Given the description of an element on the screen output the (x, y) to click on. 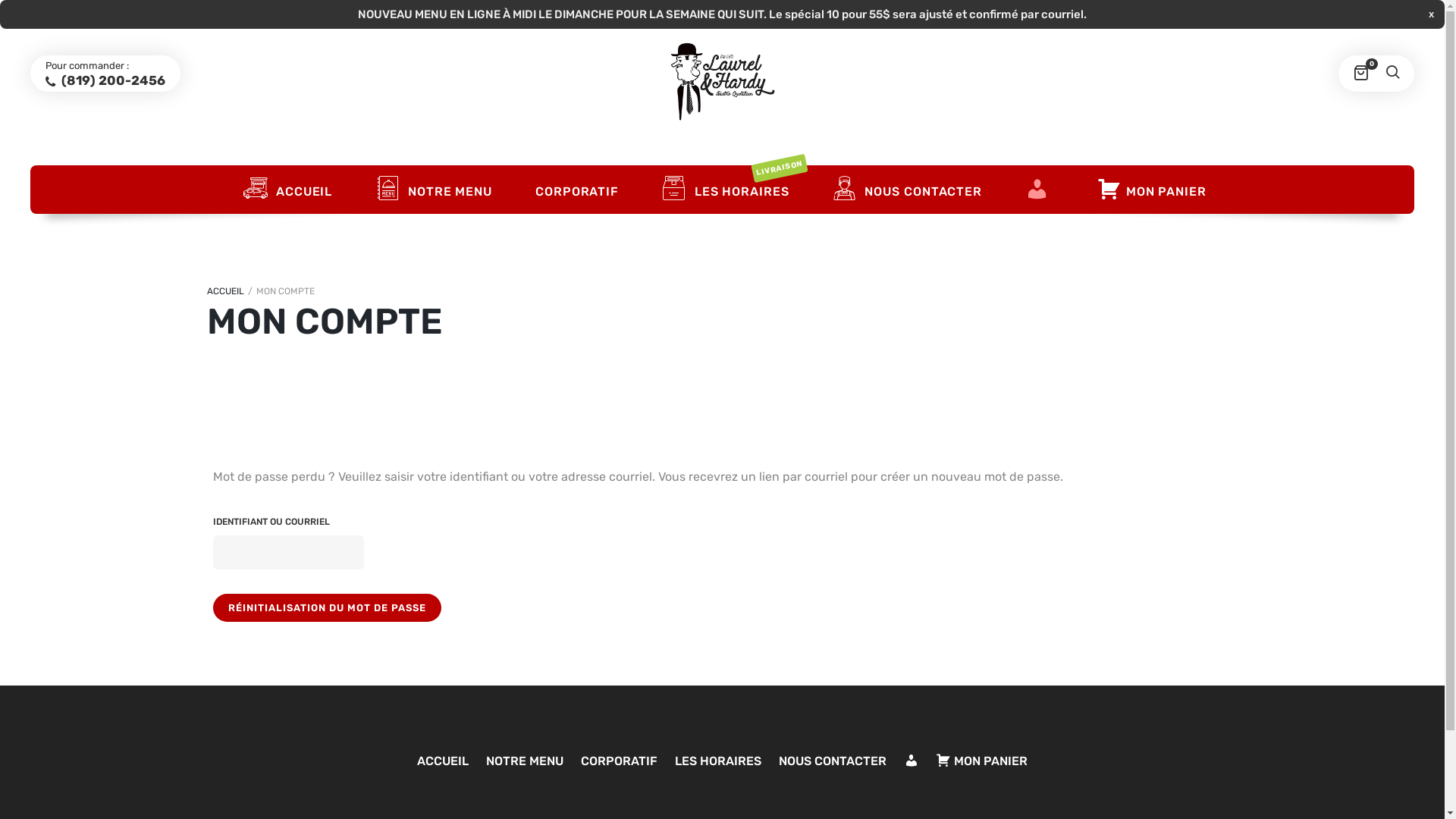
LES HORAIRES
LIVRAISON Element type: text (722, 189)
NOUS CONTACTER Element type: text (904, 189)
Search Products Element type: text (15, 13)
Search Element type: hover (1391, 73)
(819) 200-2456 Element type: text (105, 79)
MON PANIER Element type: text (1148, 191)
NOUS CONTACTER Element type: text (832, 760)
0 Element type: text (1360, 73)
ACCUEIL Element type: text (284, 189)
NOTRE MENU Element type: text (430, 189)
Ignorer Element type: text (1431, 13)
LES HORAIRES Element type: text (717, 760)
NOTRE MENU Element type: text (524, 760)
MON COMPTE Element type: text (910, 760)
CORPORATIF Element type: text (574, 191)
CORPORATIF Element type: text (619, 760)
ACCUEIL Element type: text (224, 290)
Bistro Laurel & Hardy Element type: hover (722, 81)
ACCUEIL Element type: text (442, 760)
MON PANIER Element type: text (981, 760)
MON COMPTE Element type: text (1036, 191)
